Given the description of an element on the screen output the (x, y) to click on. 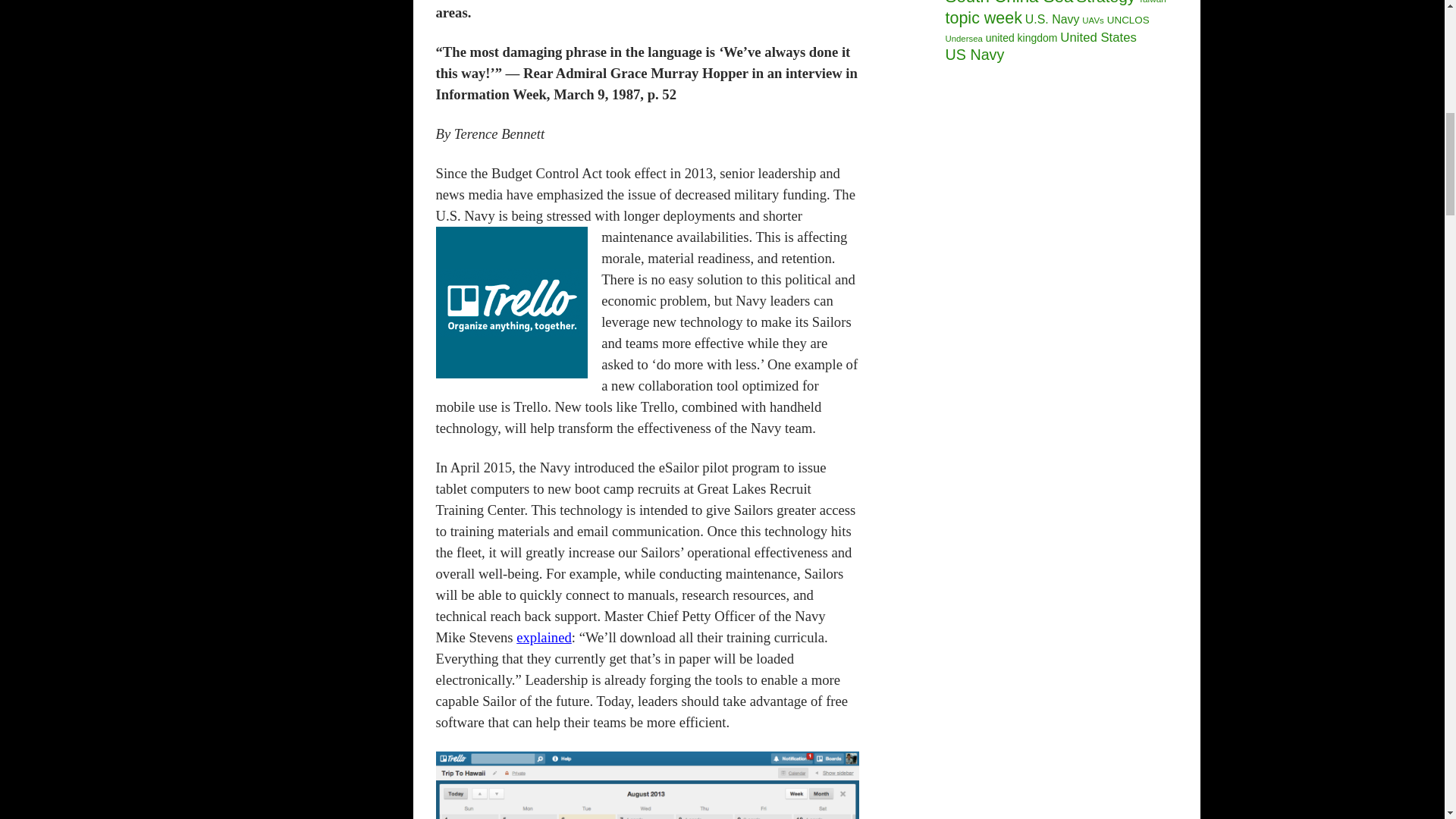
explained (544, 637)
